Given the description of an element on the screen output the (x, y) to click on. 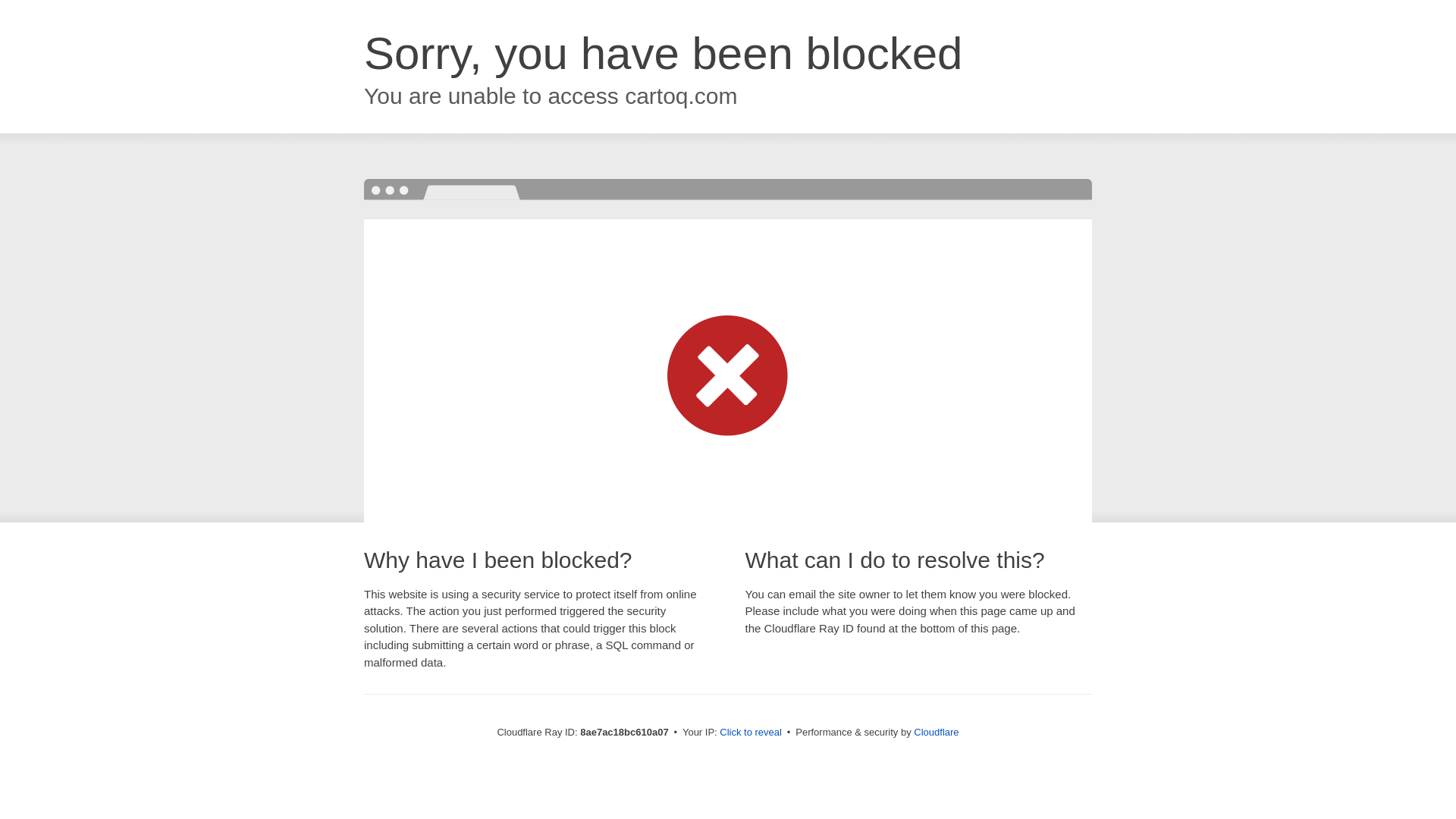
Click to reveal (750, 732)
Cloudflare (936, 731)
